Given the description of an element on the screen output the (x, y) to click on. 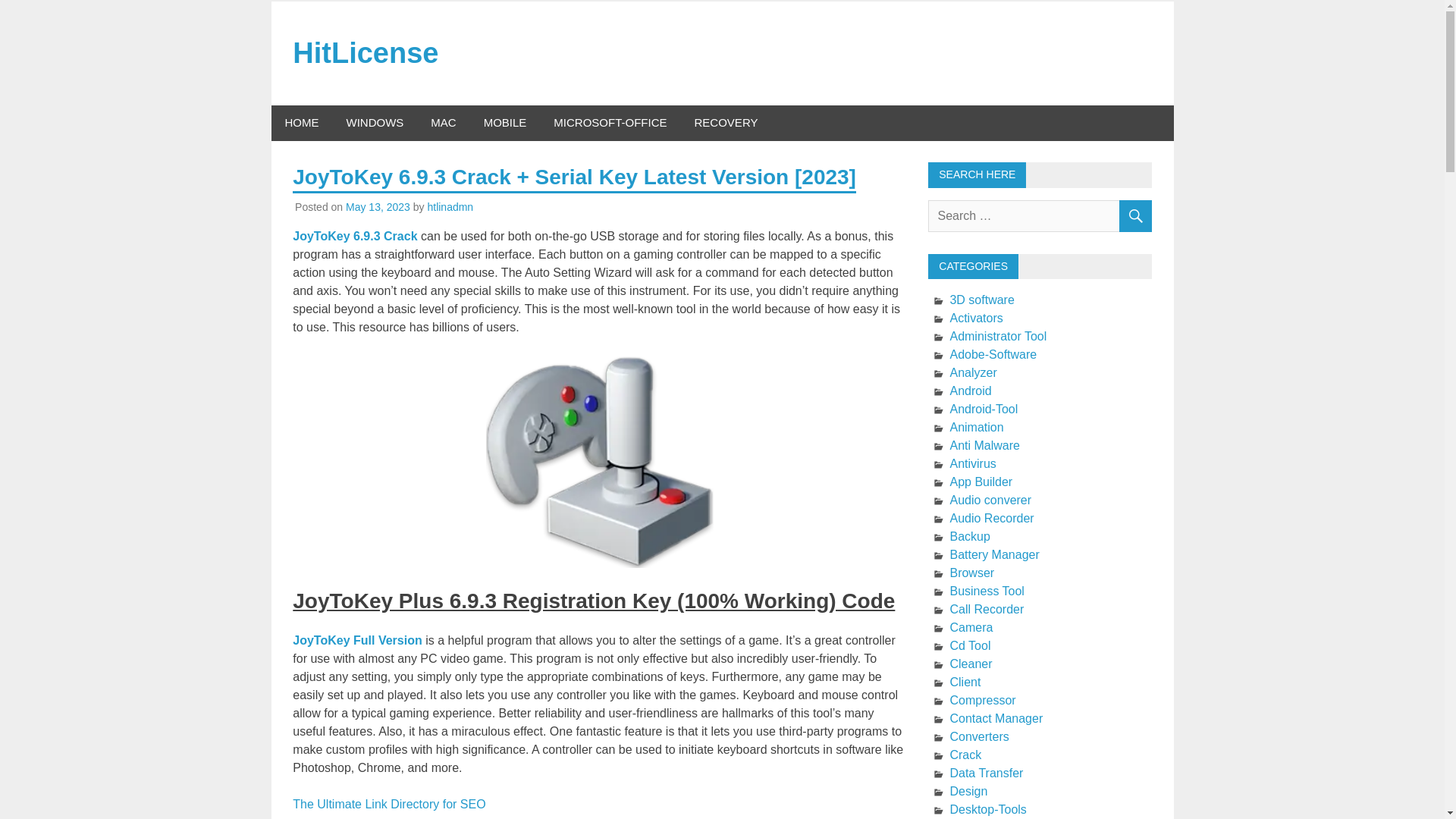
View all posts by htlinadmn (449, 206)
JoyToKey 6.9.3 Crack (356, 236)
7:00 pm (378, 206)
HOME (301, 122)
HitLicense (365, 52)
MOBILE (505, 122)
WINDOWS (373, 122)
htlinadmn (449, 206)
JoyToKey Full Version (357, 640)
RECOVERY (726, 122)
